Given the description of an element on the screen output the (x, y) to click on. 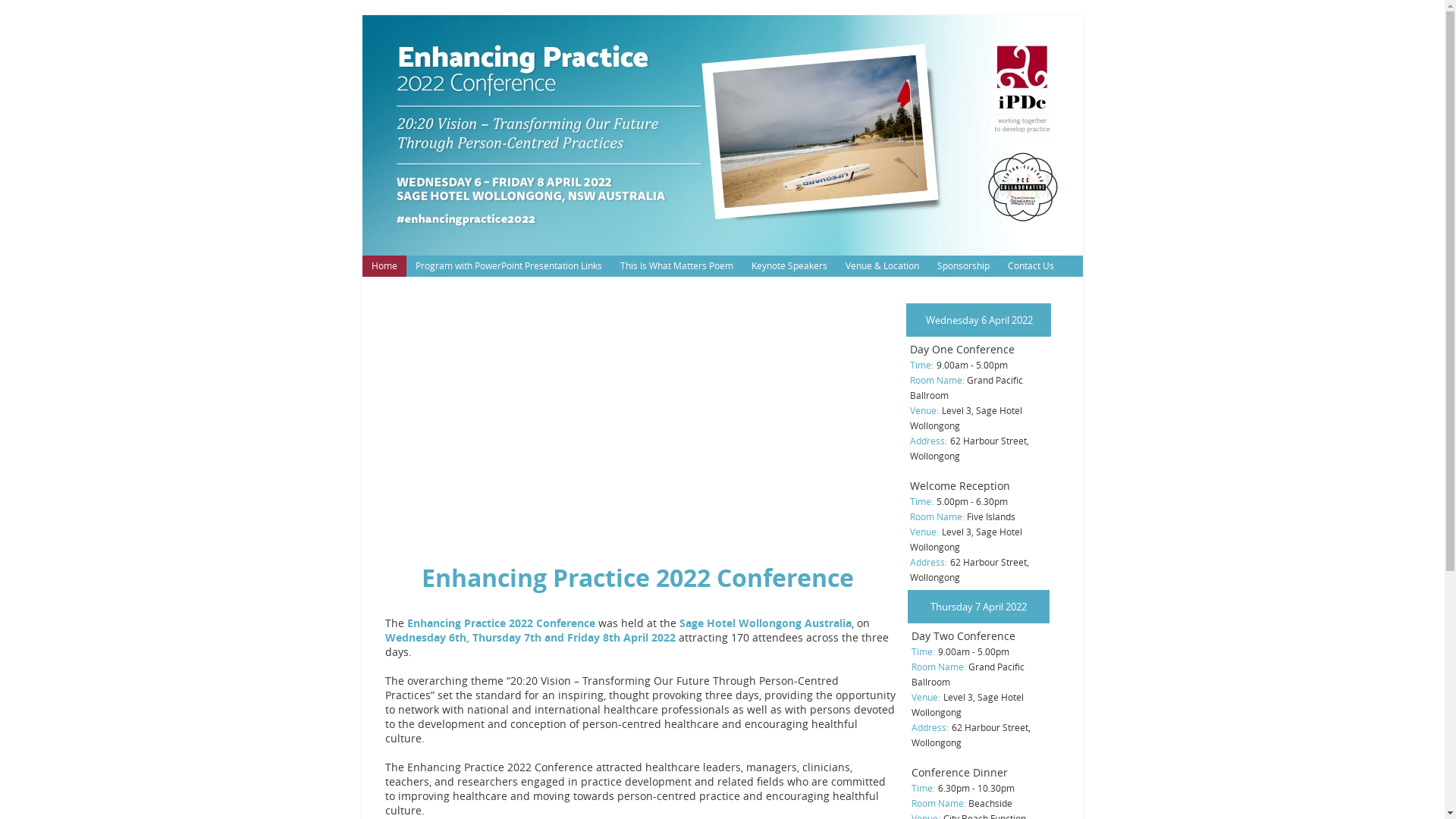
Sponsorship Element type: text (963, 265)
Keynote Speakers Element type: text (788, 265)
Program with PowerPoint Presentation Links Element type: text (508, 265)
This Is What Matters Poem Element type: text (676, 265)
Home Element type: text (384, 265)
Venue & Location Element type: text (881, 265)
Contact Us Element type: text (1029, 265)
